Given the description of an element on the screen output the (x, y) to click on. 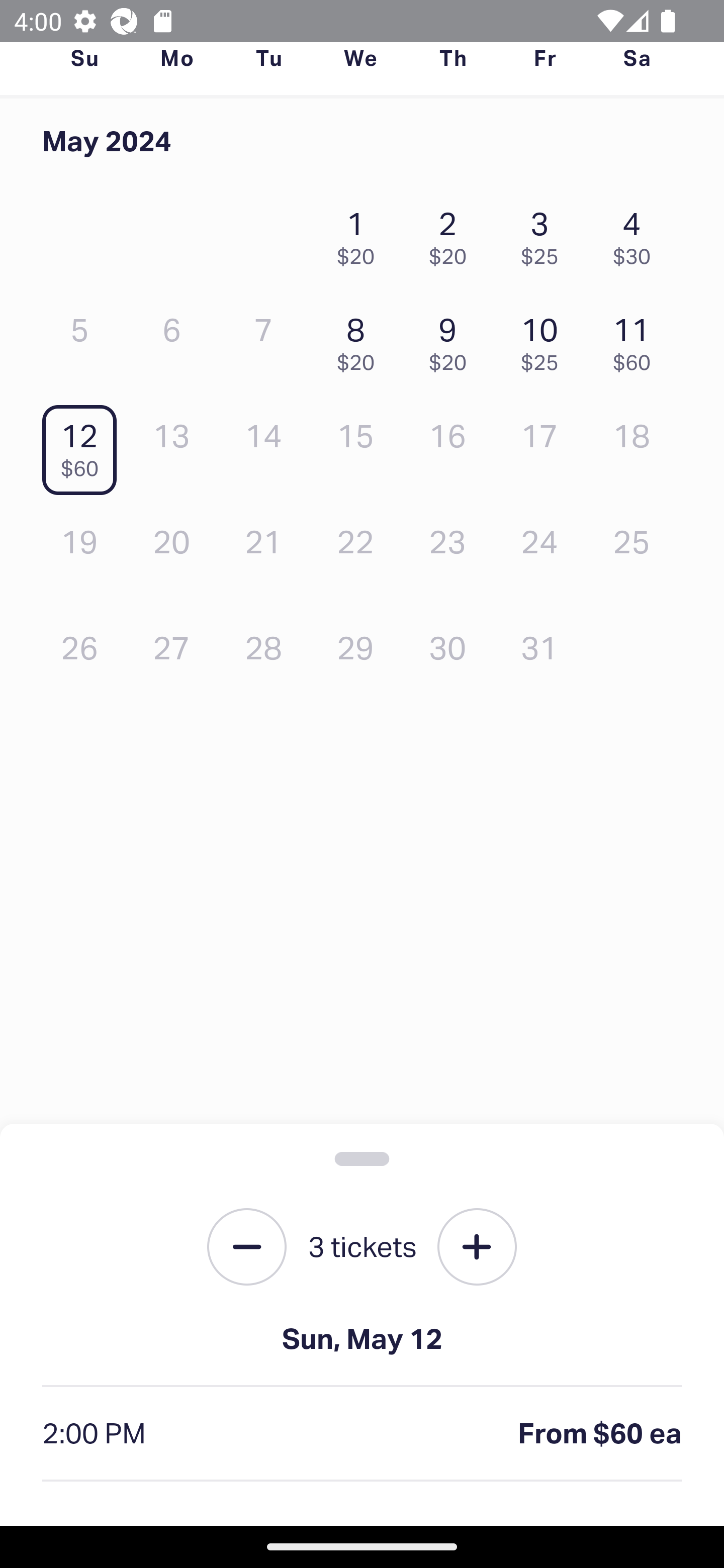
1 $20 (360, 232)
2 $20 (452, 232)
3 $25 (544, 232)
4 $30 (636, 232)
8 $20 (360, 339)
9 $20 (452, 339)
10 $25 (544, 339)
11 $60 (636, 339)
12 $60 (84, 445)
2:00 PM From $60 ea (361, 1434)
